Given the description of an element on the screen output the (x, y) to click on. 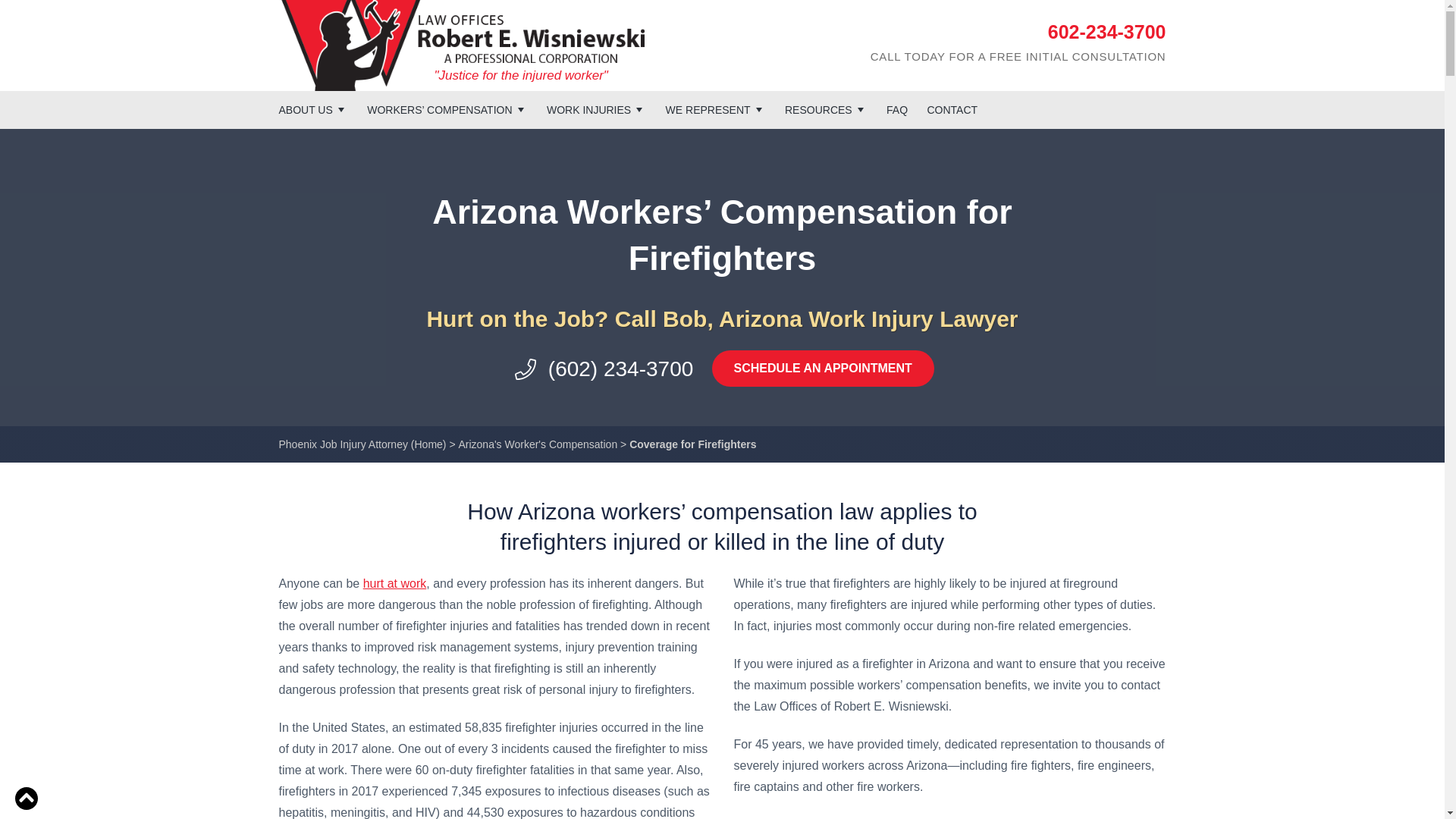
602-234-3700 (1107, 31)
SCHEDULE AN APPOINTMENT (822, 368)
FAQ (896, 109)
ABOUT US (313, 109)
RESOURCES (825, 109)
WORK INJURIES (596, 109)
WE REPRESENT (715, 109)
CONTACT (951, 109)
